Given the description of an element on the screen output the (x, y) to click on. 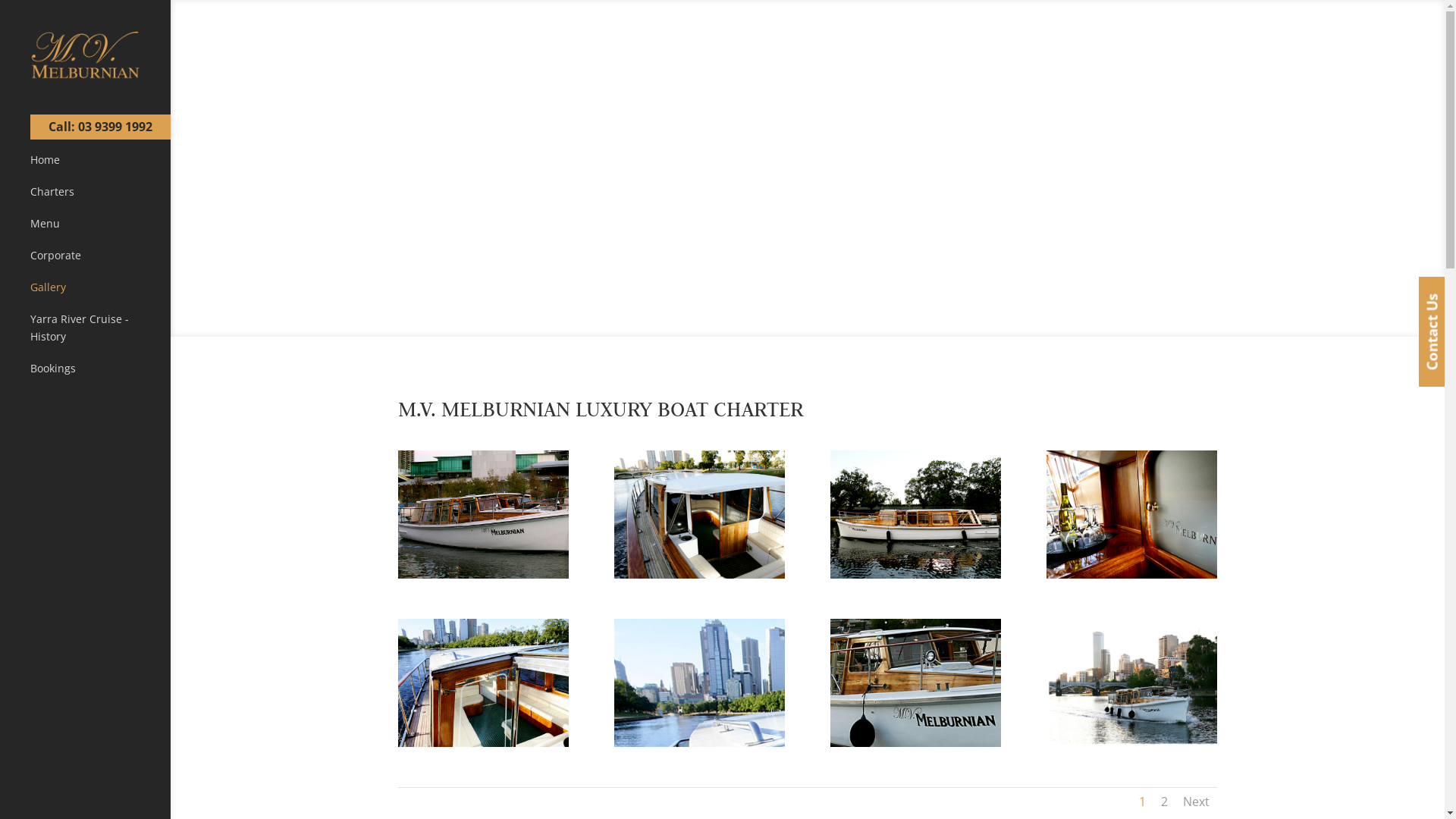
wine Element type: hover (1136, 574)
Gallery Element type: text (100, 294)
2 Element type: text (1164, 801)
1 Element type: text (1142, 801)
Next Element type: text (1196, 801)
Menu Element type: text (100, 230)
Yarra River Cruise -History Element type: text (100, 334)
Call: 03 9399 1992 Element type: text (100, 126)
Bookings Element type: text (100, 375)
IMAGE-2 Element type: hover (920, 574)
MV-MELBURNIAN-NN7P0388 Element type: hover (1151, 742)
banner---image Element type: hover (709, 742)
Charters Element type: text (100, 198)
MV MELBURNIAN NN8P0102 Element type: hover (488, 574)
BOAT-AND-CITY Element type: hover (704, 574)
MV-MELBURNIAN-NN7P0135 Element type: hover (488, 742)
Corporate Element type: text (100, 262)
Home Element type: text (100, 166)
MV-MELBURNIAN-NN7P0392-banner Element type: hover (940, 742)
